Given the description of an element on the screen output the (x, y) to click on. 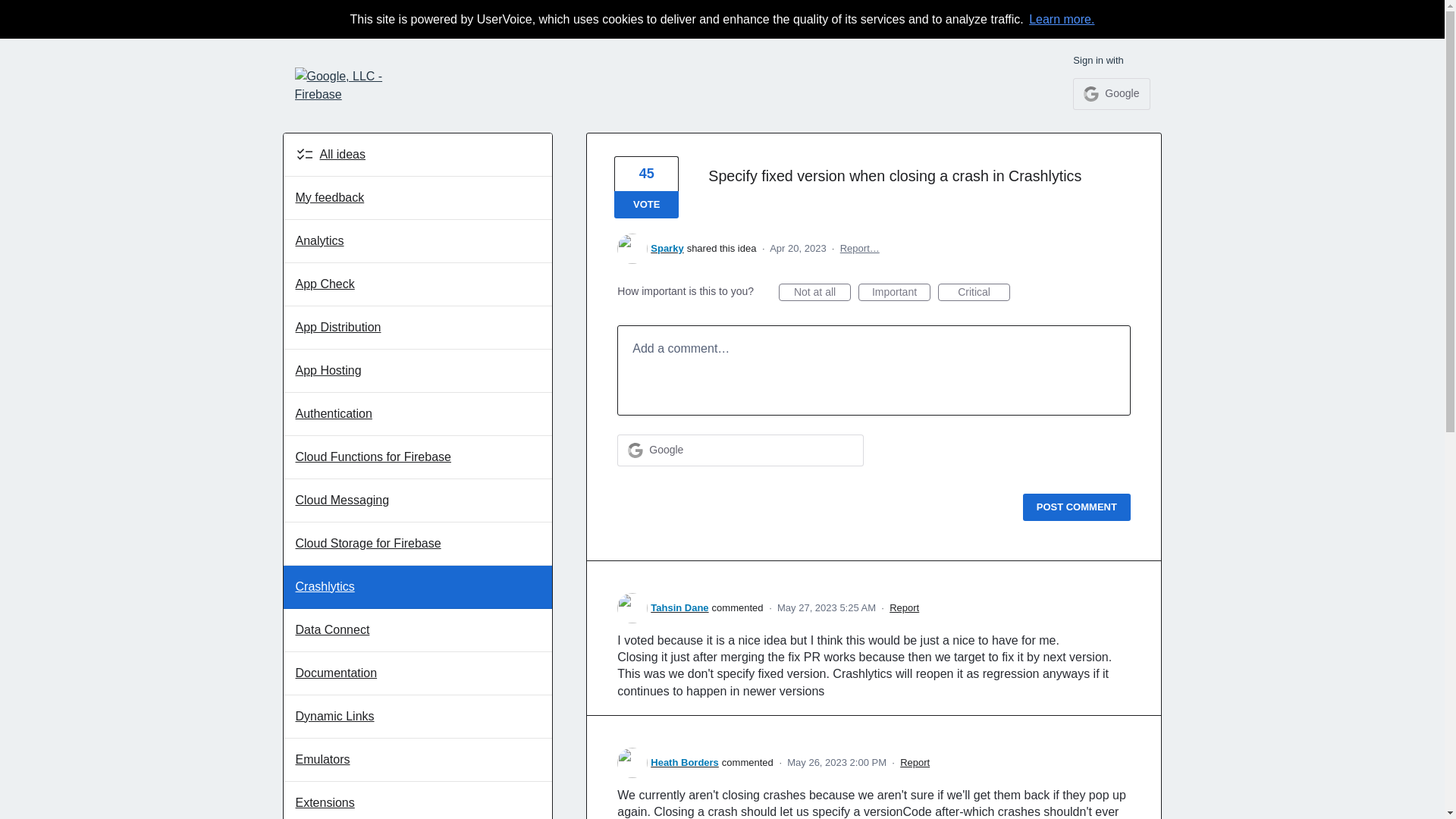
View all ideas in category Cloud Messaging (418, 500)
View all ideas in category App Hosting (418, 371)
Learn more. (1060, 18)
Have an idea? Share it! (362, 85)
View all ideas in category Dynamic Links (418, 716)
Google (1111, 93)
View all ideas in category Authentication (418, 414)
Extensions (418, 800)
Analytics (418, 241)
View all ideas in category Documentation (418, 673)
Skip to content (12, 12)
View all ideas in category App Distribution (418, 327)
Crashlytics (418, 587)
Cloud Storage for Firebase (418, 543)
View all ideas in category Cloud Storage for Firebase (418, 543)
